Given the description of an element on the screen output the (x, y) to click on. 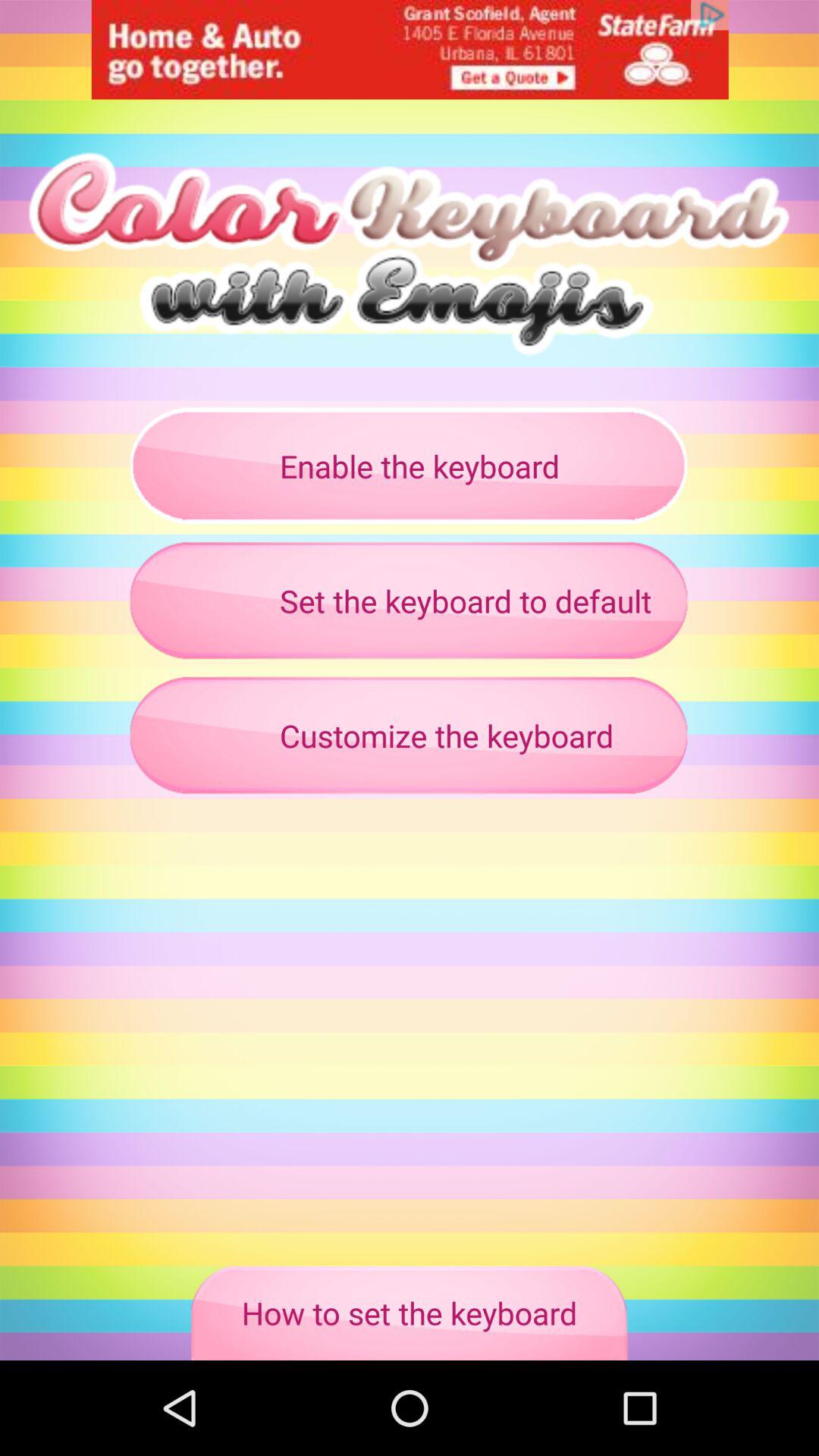
advertisement option (409, 49)
